Given the description of an element on the screen output the (x, y) to click on. 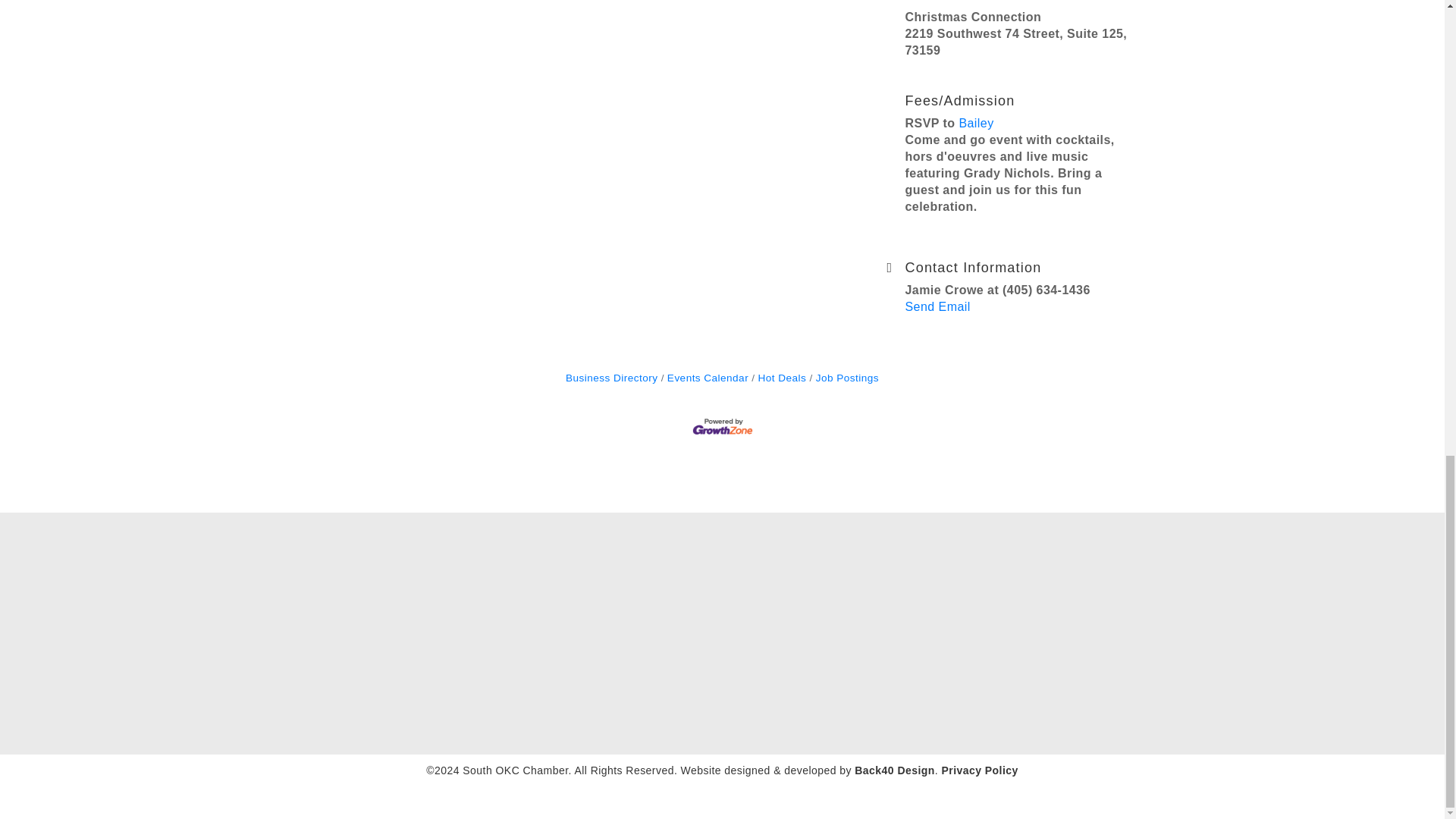
Bailey (975, 123)
Send Email (938, 306)
Events Calendar (704, 378)
Business Directory (612, 378)
